Given the description of an element on the screen output the (x, y) to click on. 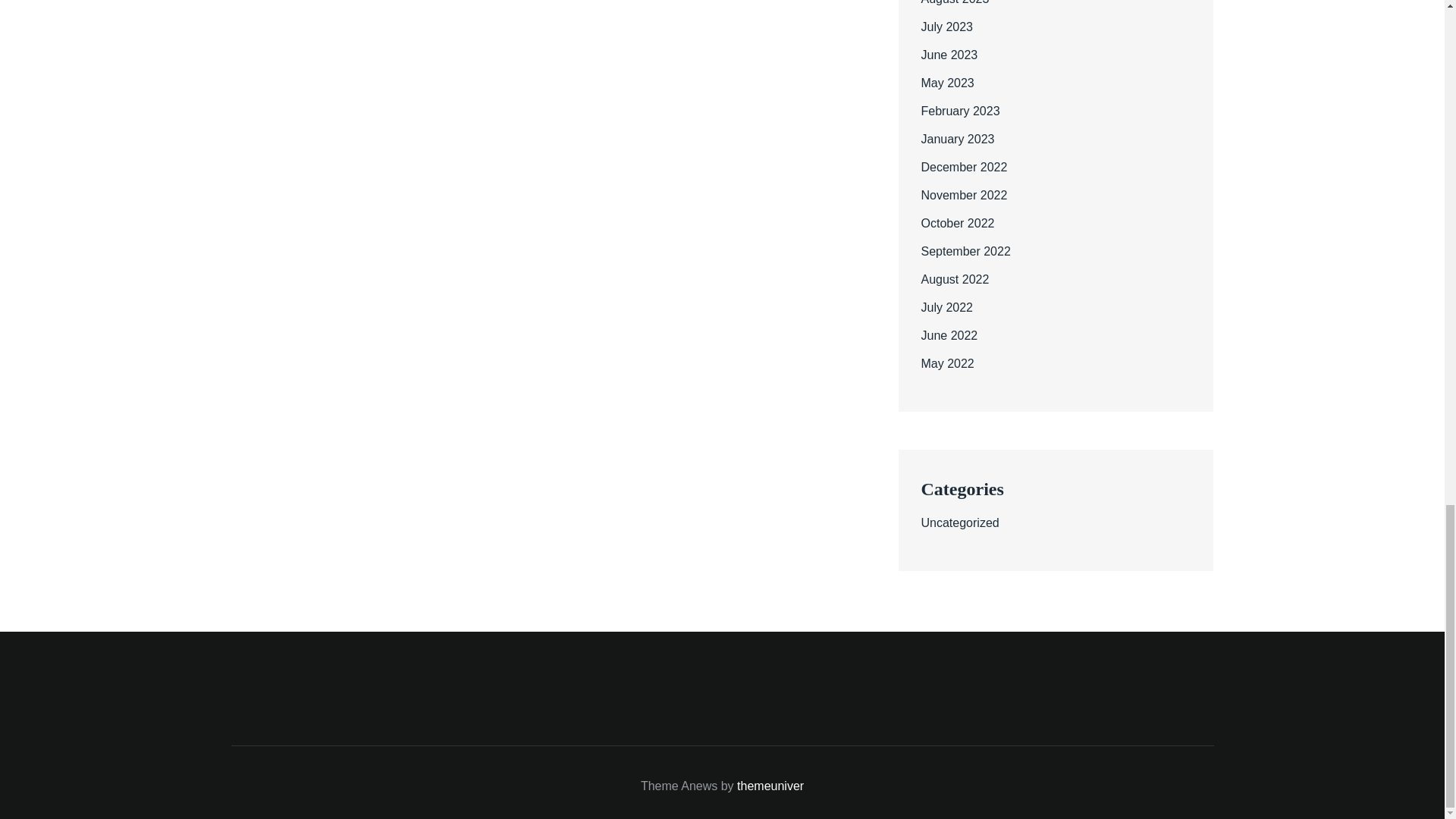
July 2023 (946, 26)
December 2022 (963, 166)
February 2023 (959, 110)
August 2023 (954, 2)
June 2023 (948, 54)
May 2023 (947, 82)
January 2023 (957, 138)
November 2022 (963, 195)
